Given the description of an element on the screen output the (x, y) to click on. 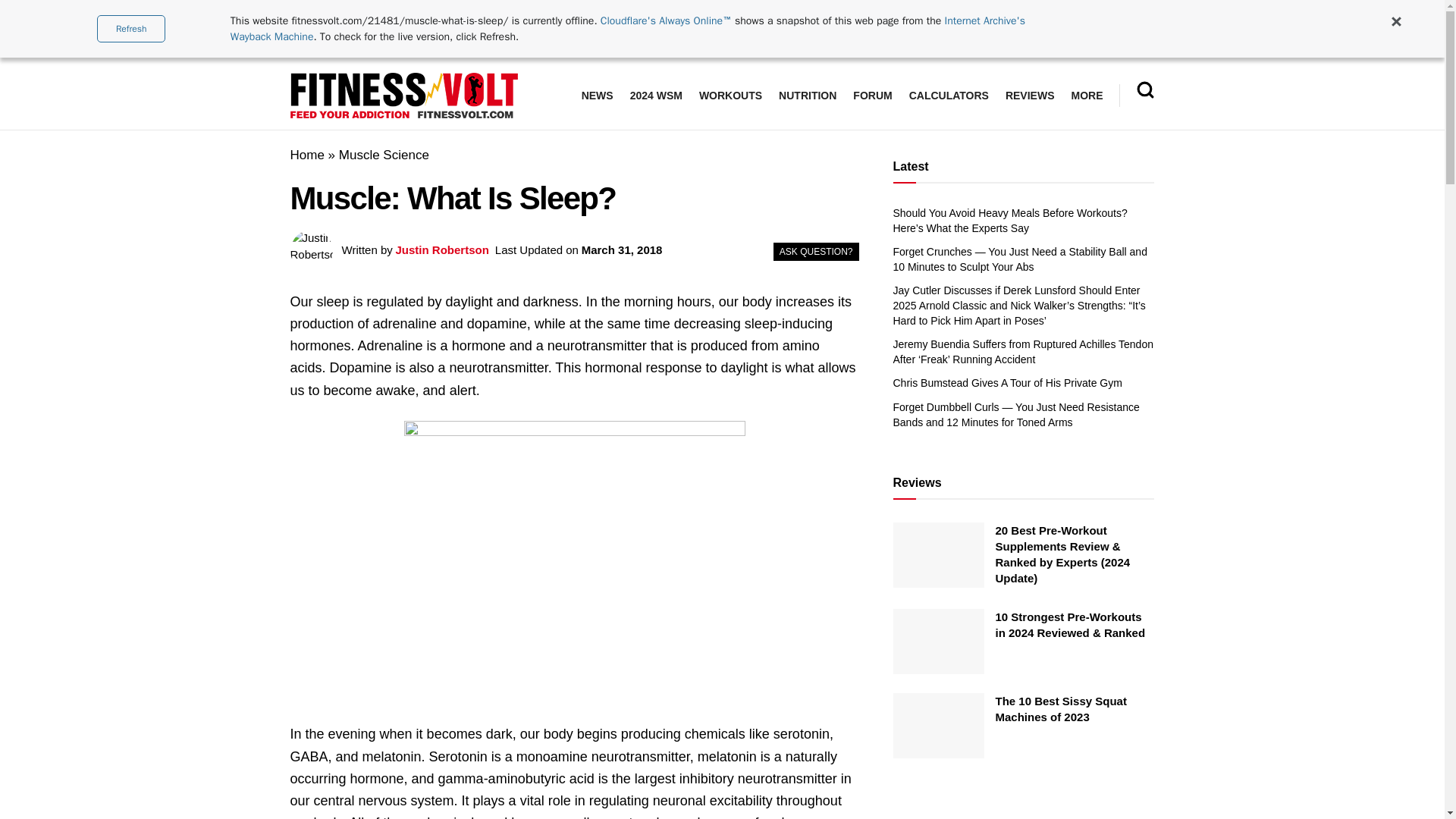
Refresh (131, 28)
REVIEWS (1030, 95)
NUTRITION (806, 95)
2024 WSM (656, 95)
WORKOUTS (729, 95)
FORUM (872, 95)
NEWS (596, 95)
Internet Archive's Wayback Machine (627, 28)
MORE (1086, 95)
CALCULATORS (948, 95)
